Given the description of an element on the screen output the (x, y) to click on. 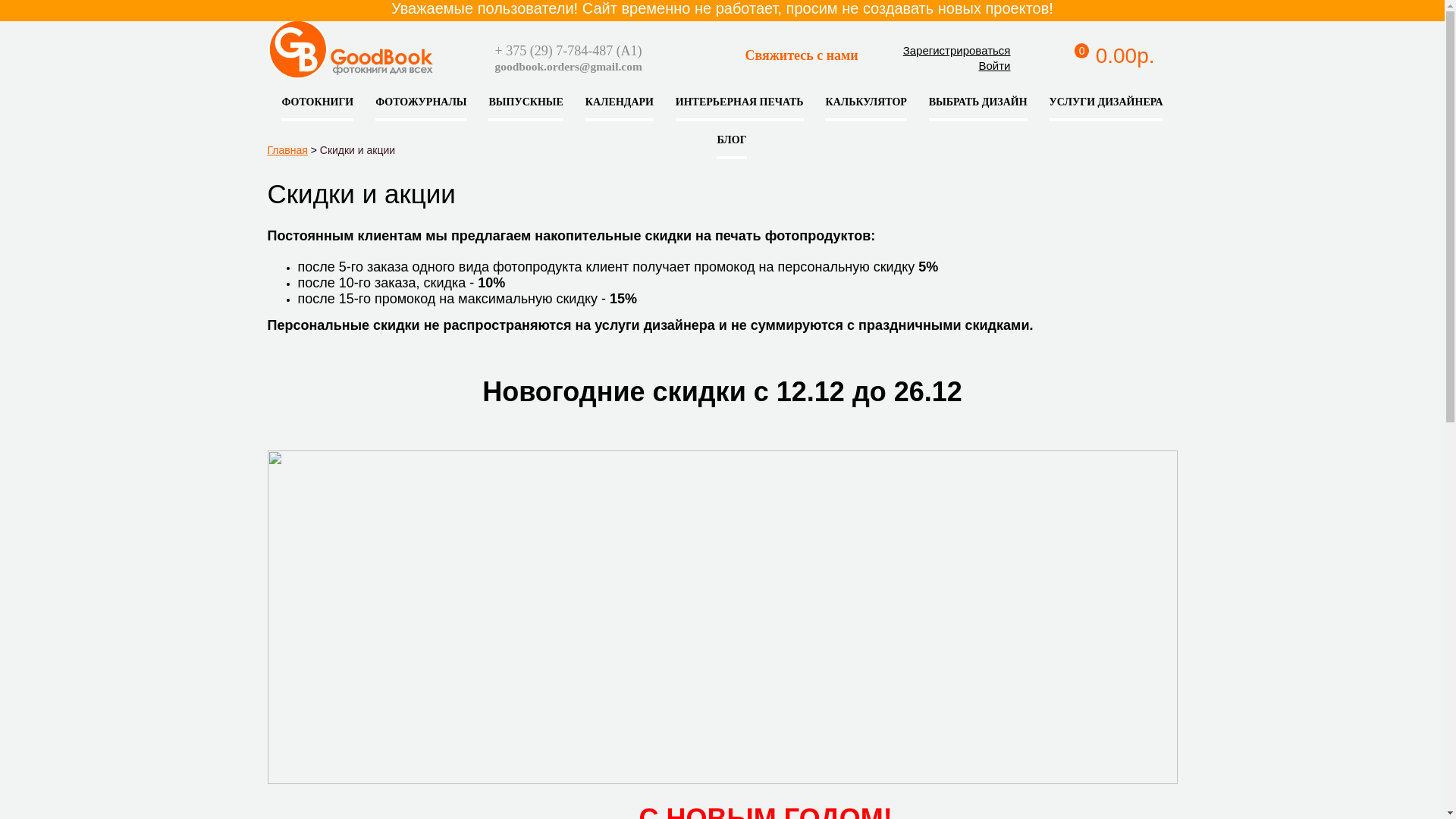
+ 375 (29) 7-784-487 (A1) Element type: text (567, 50)
Good Book Design Studio Element type: hover (438, 61)
goodbook.orders@gmail.com Element type: text (567, 65)
